Given the description of an element on the screen output the (x, y) to click on. 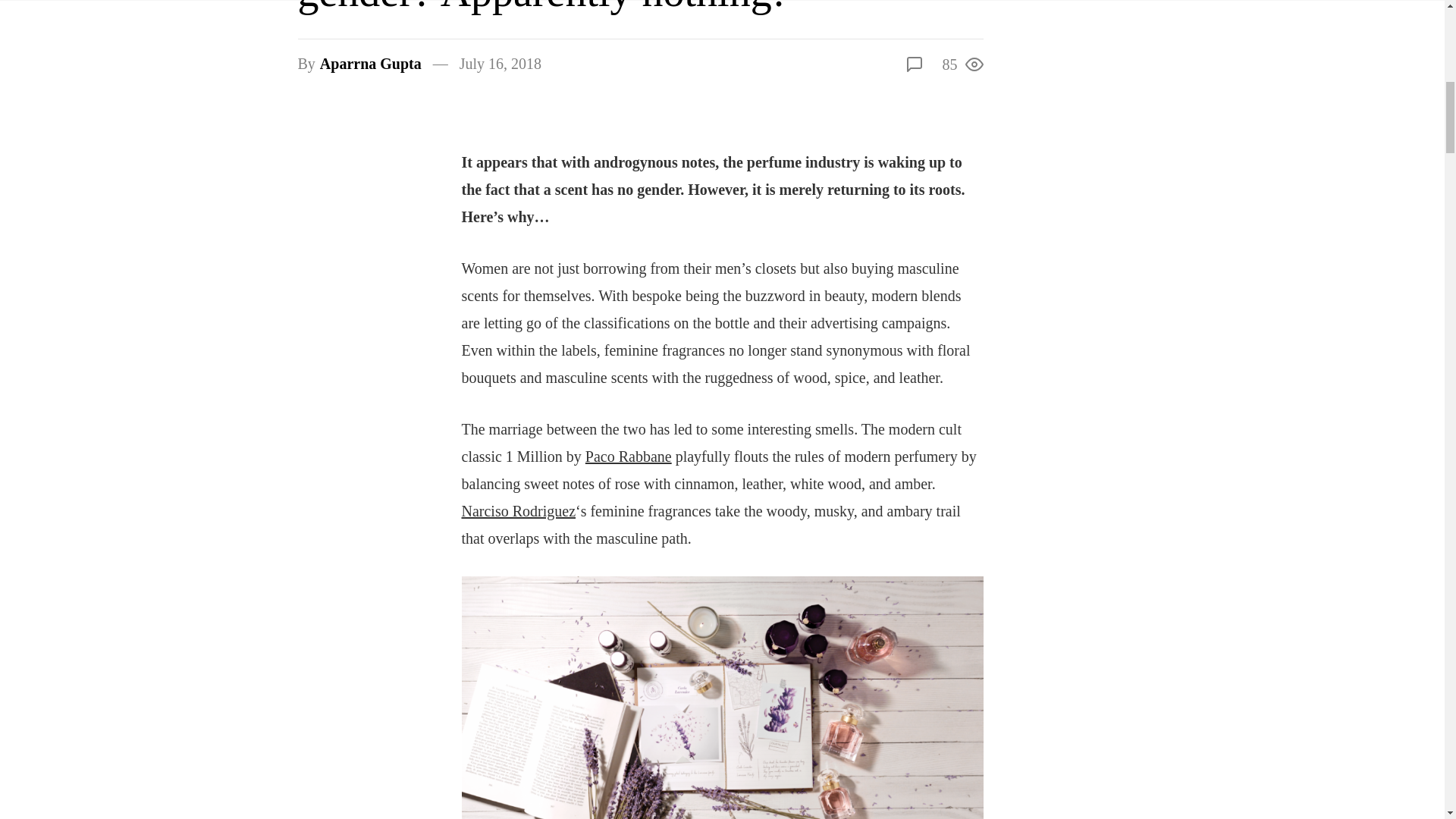
Aparrna Gupta (371, 63)
Posts by Aparrna Gupta (371, 63)
July 16, 2018 (500, 63)
